Given the description of an element on the screen output the (x, y) to click on. 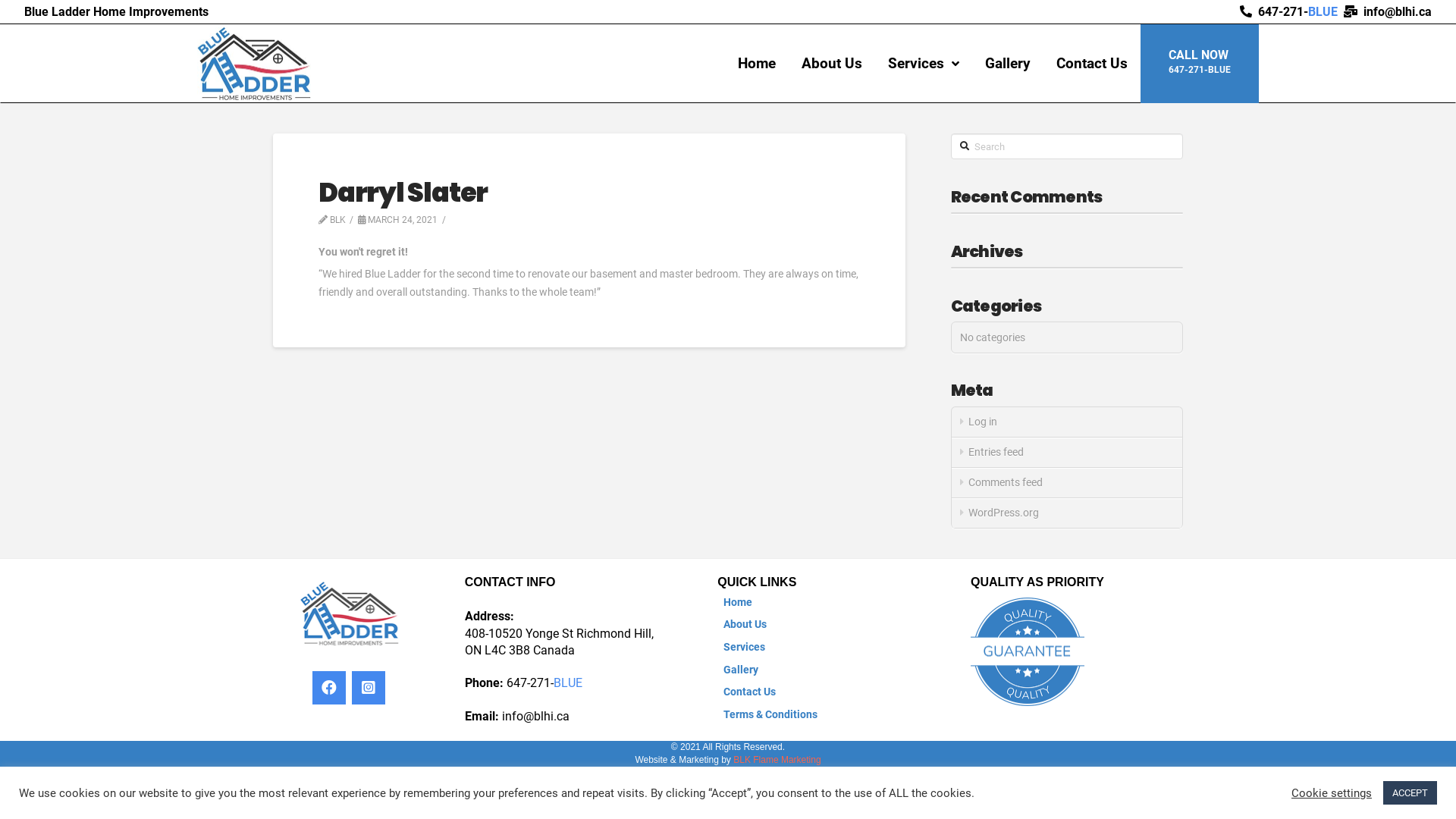
408-10520 Yonge St Richmond Hill, ON L4C 3B8 Canada Element type: text (558, 641)
About Us Element type: text (831, 63)
Services Element type: text (744, 647)
WordPress.org Element type: text (1066, 513)
CALL NOW
647-271-BLUE Element type: text (1199, 63)
ACCEPT Element type: text (1410, 792)
Contact Us Element type: text (1091, 63)
About Us Element type: text (744, 624)
info@blhi.ca Element type: text (1397, 11)
Gallery Element type: text (1007, 63)
647-271-BLUE Element type: text (1297, 11)
Entries feed Element type: text (1066, 452)
Home Element type: text (756, 63)
647-271-BLUE Element type: text (544, 682)
BLK Flame Marketing Element type: text (776, 759)
Log in Element type: text (1066, 422)
Comments feed Element type: text (1066, 482)
info@blhi.ca Element type: text (535, 716)
Services Element type: text (923, 63)
Terms & Conditions Element type: text (770, 714)
Home Element type: text (737, 602)
Cookie settings Element type: text (1331, 792)
Gallery Element type: text (740, 669)
Contact Us Element type: text (749, 691)
